Given the description of an element on the screen output the (x, y) to click on. 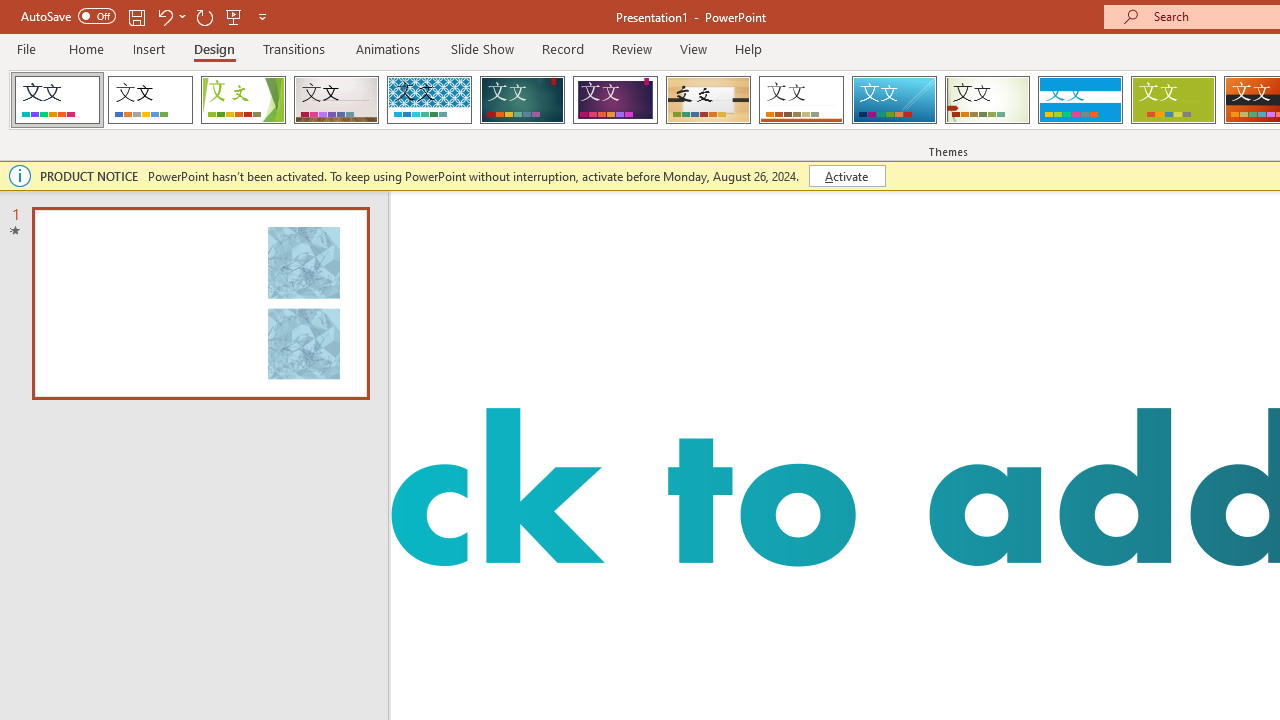
Activate (846, 175)
Retrospect (801, 100)
